Given the description of an element on the screen output the (x, y) to click on. 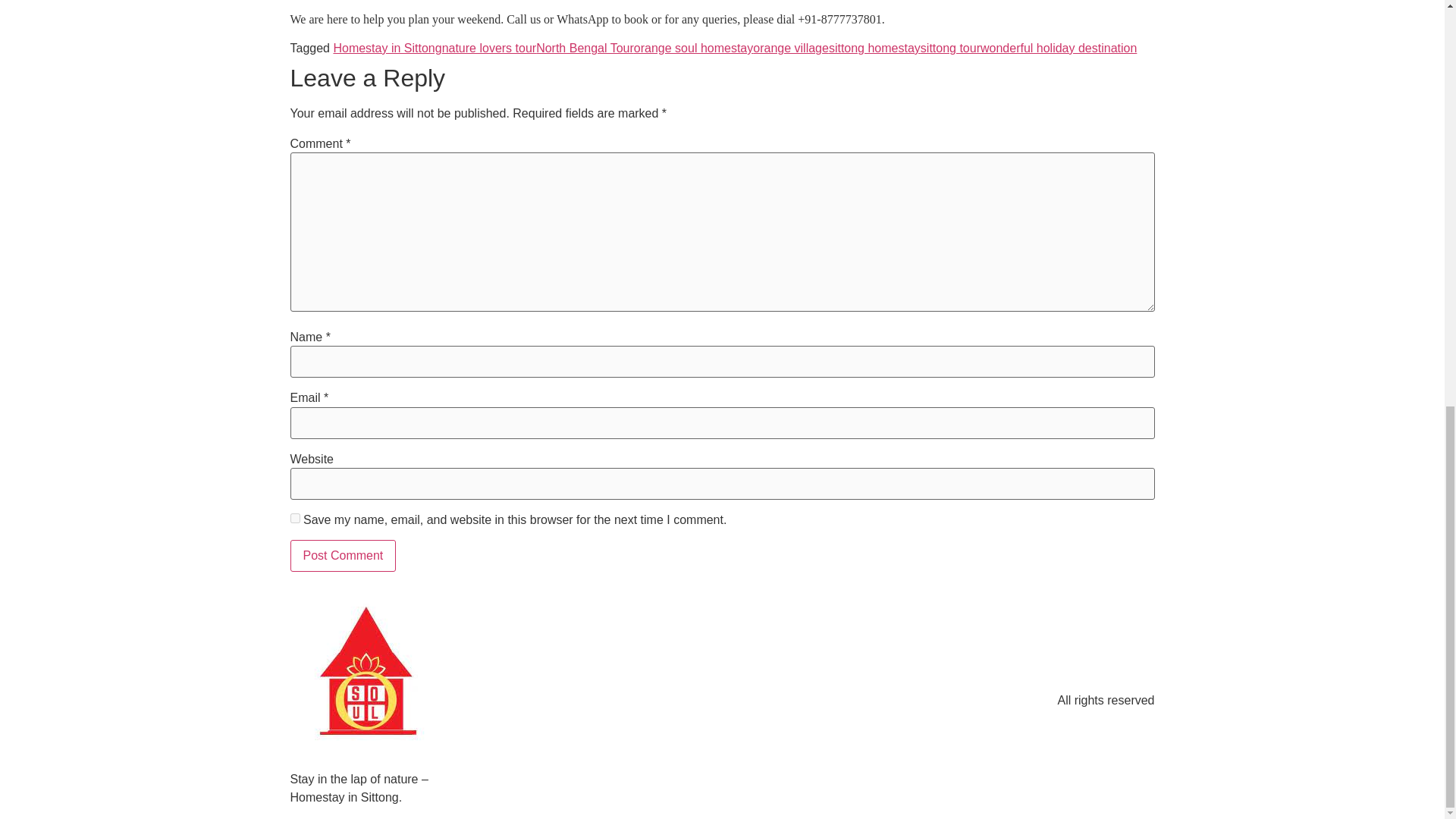
yes (294, 518)
North Bengal Tour (584, 47)
orange soul homestay (692, 47)
Homestay in Sittong (387, 47)
sittong homestay (874, 47)
wonderful holiday destination (1058, 47)
orange village (790, 47)
Post Comment (342, 555)
sittong tour (949, 47)
nature lovers tour (489, 47)
Post Comment (342, 555)
